Given the description of an element on the screen output the (x, y) to click on. 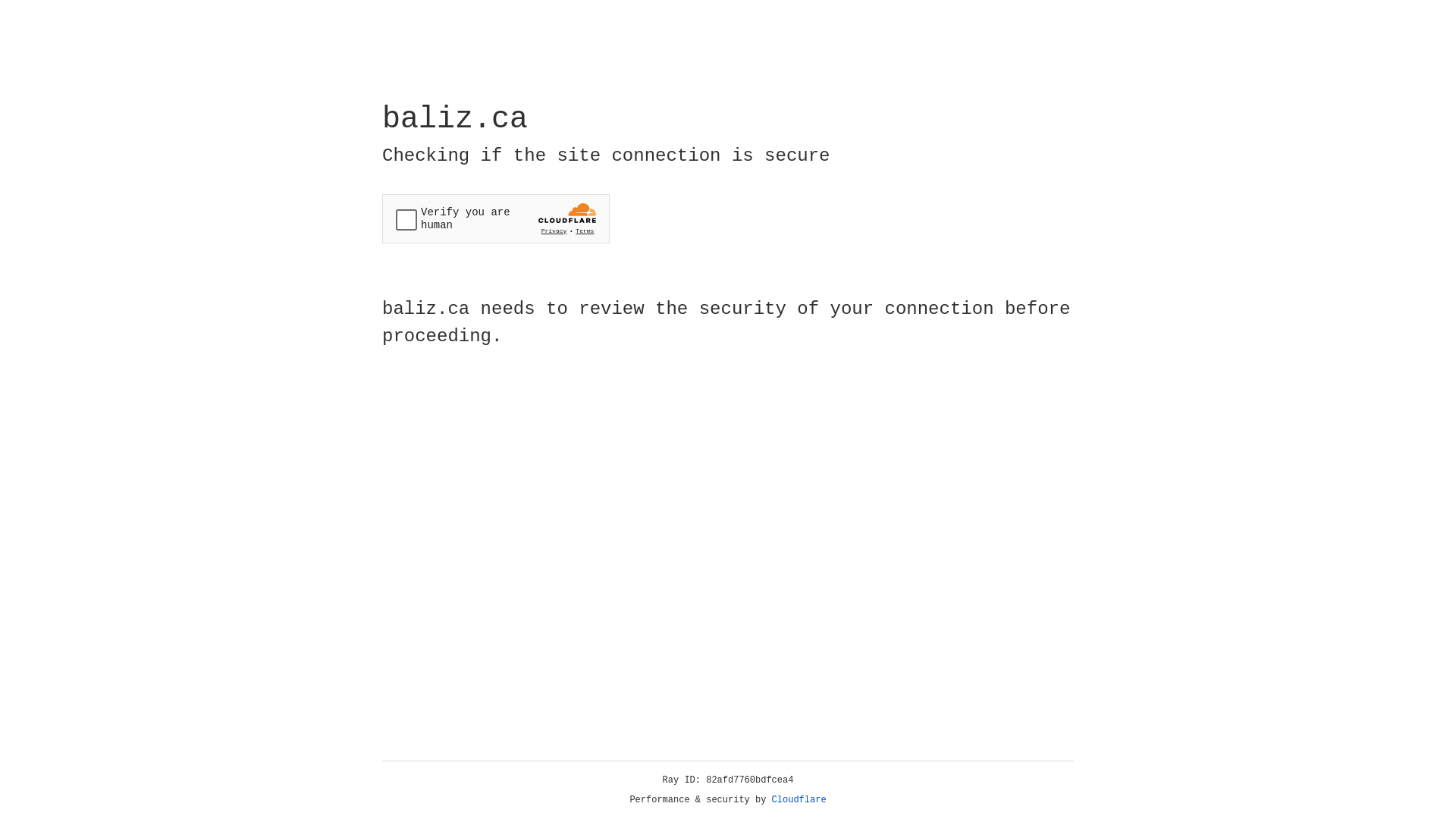
Cloudflare Element type: text (798, 799)
Widget containing a Cloudflare security challenge Element type: hover (495, 218)
